Given the description of an element on the screen output the (x, y) to click on. 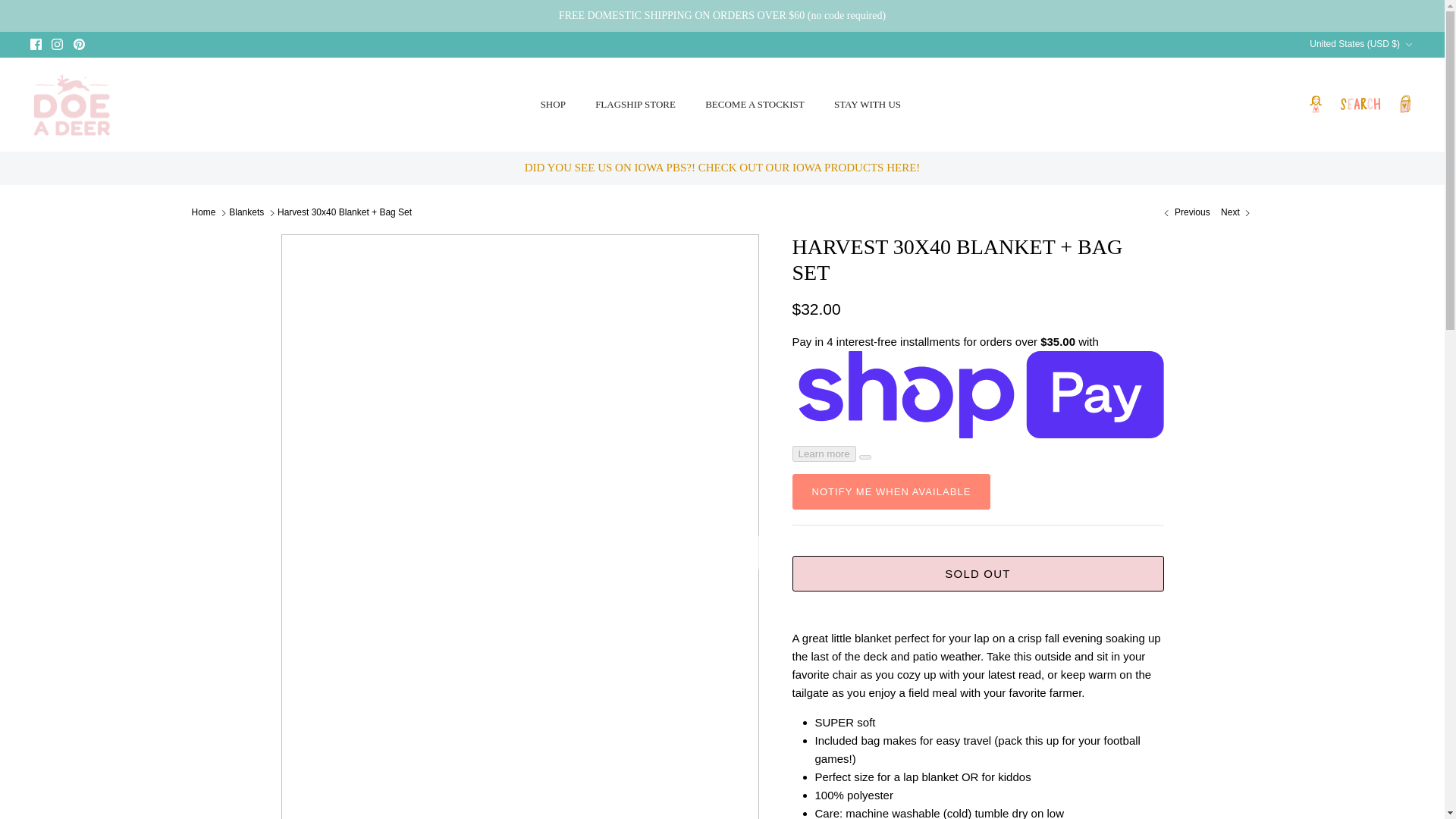
Down (1408, 44)
RIGHT (741, 552)
Instagram (56, 43)
Facebook (36, 43)
Instagram (56, 43)
Pinterest (79, 43)
Doe A Deer (71, 104)
Facebook (36, 43)
Pinterest (79, 43)
